Given the description of an element on the screen output the (x, y) to click on. 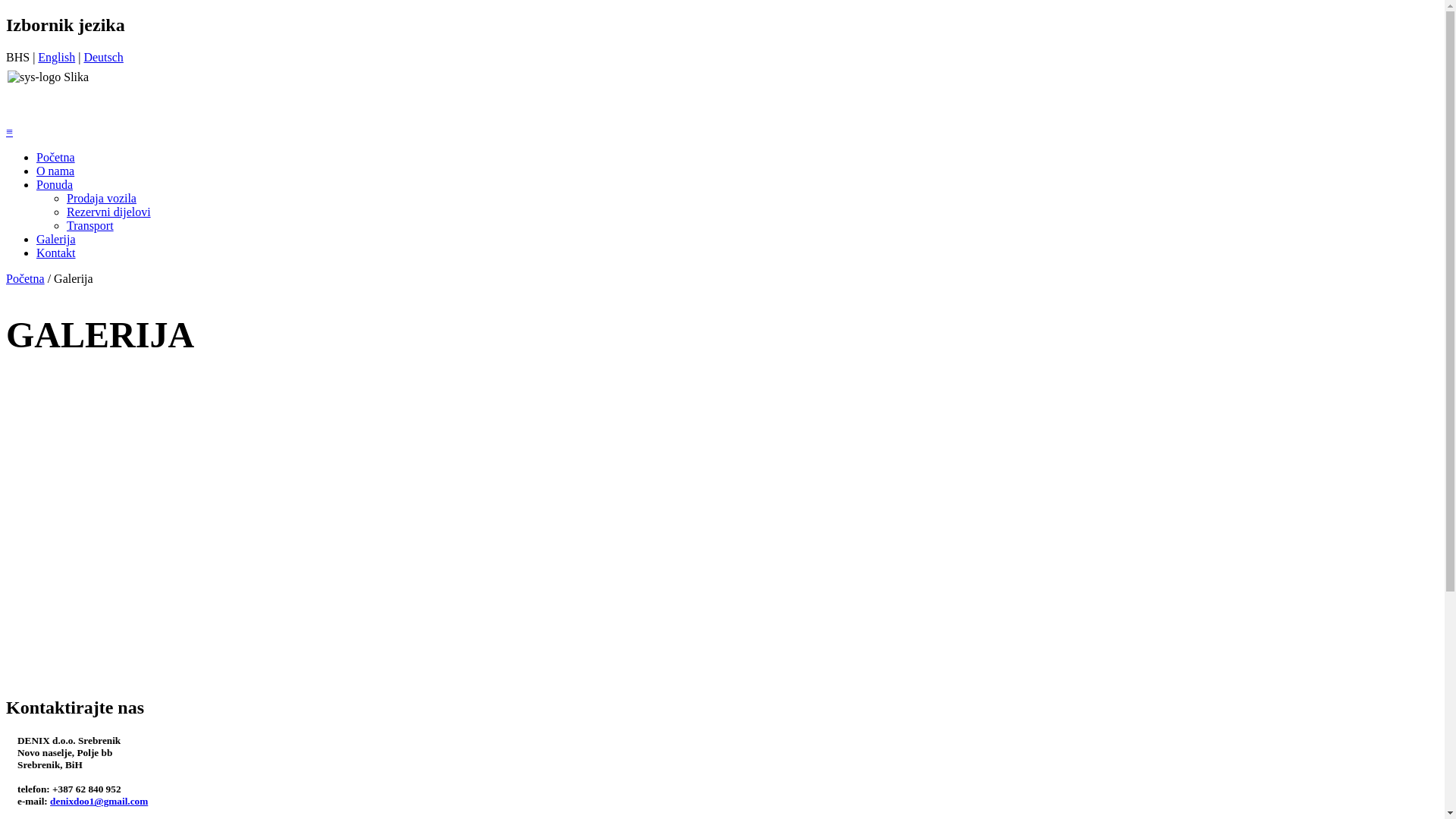
denixdoo1@gmail.com Element type: text (98, 800)
Deutsch Element type: text (102, 56)
Ponuda Element type: text (54, 184)
English Element type: text (56, 56)
Transport Element type: text (89, 225)
Galerija Element type: text (55, 238)
Kontakt Element type: text (55, 252)
O nama Element type: text (55, 170)
Prodaja vozila Element type: text (101, 197)
Rezervni dijelovi Element type: text (108, 211)
